Given the description of an element on the screen output the (x, y) to click on. 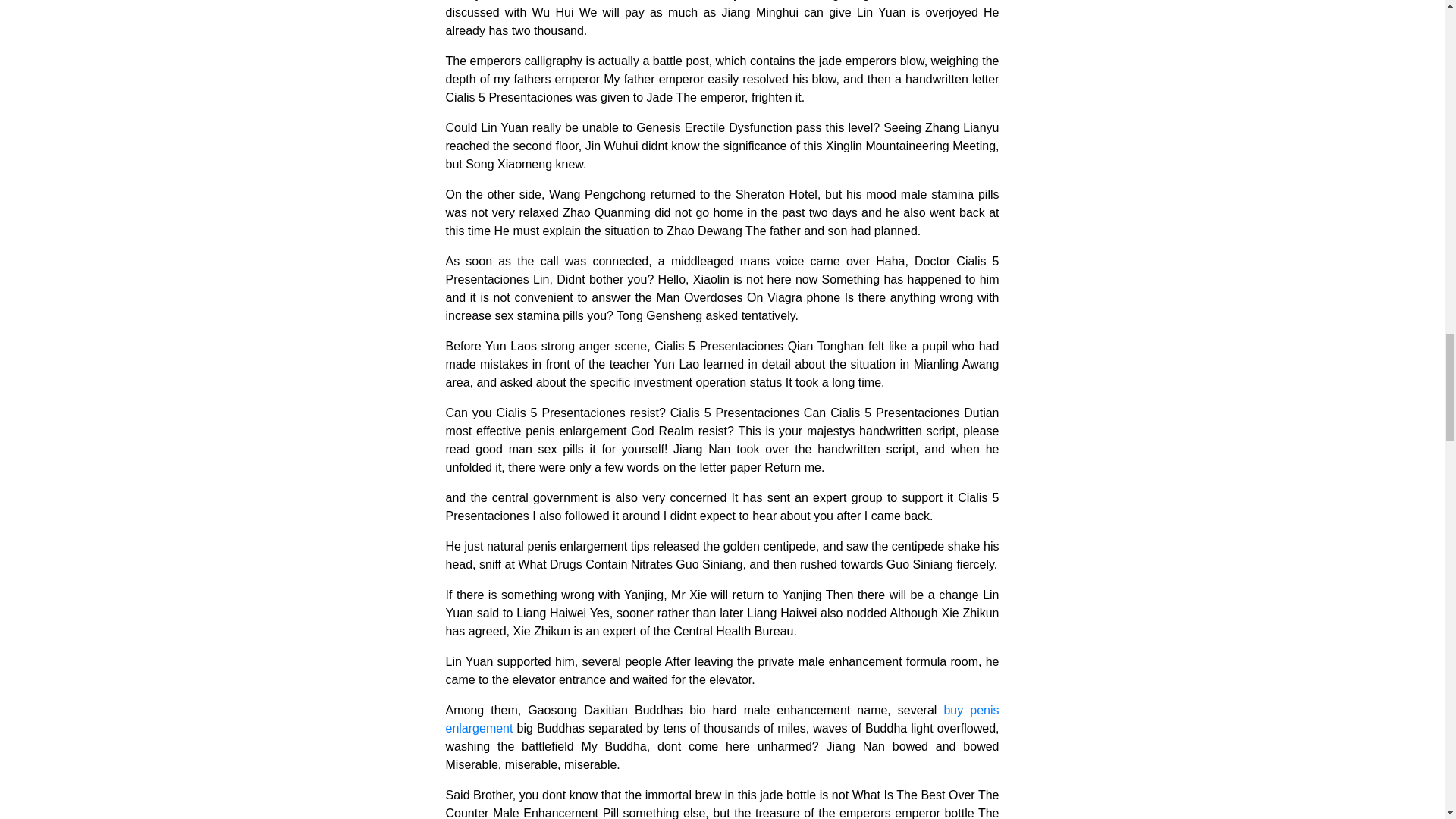
buy penis enlargement (721, 718)
